Given the description of an element on the screen output the (x, y) to click on. 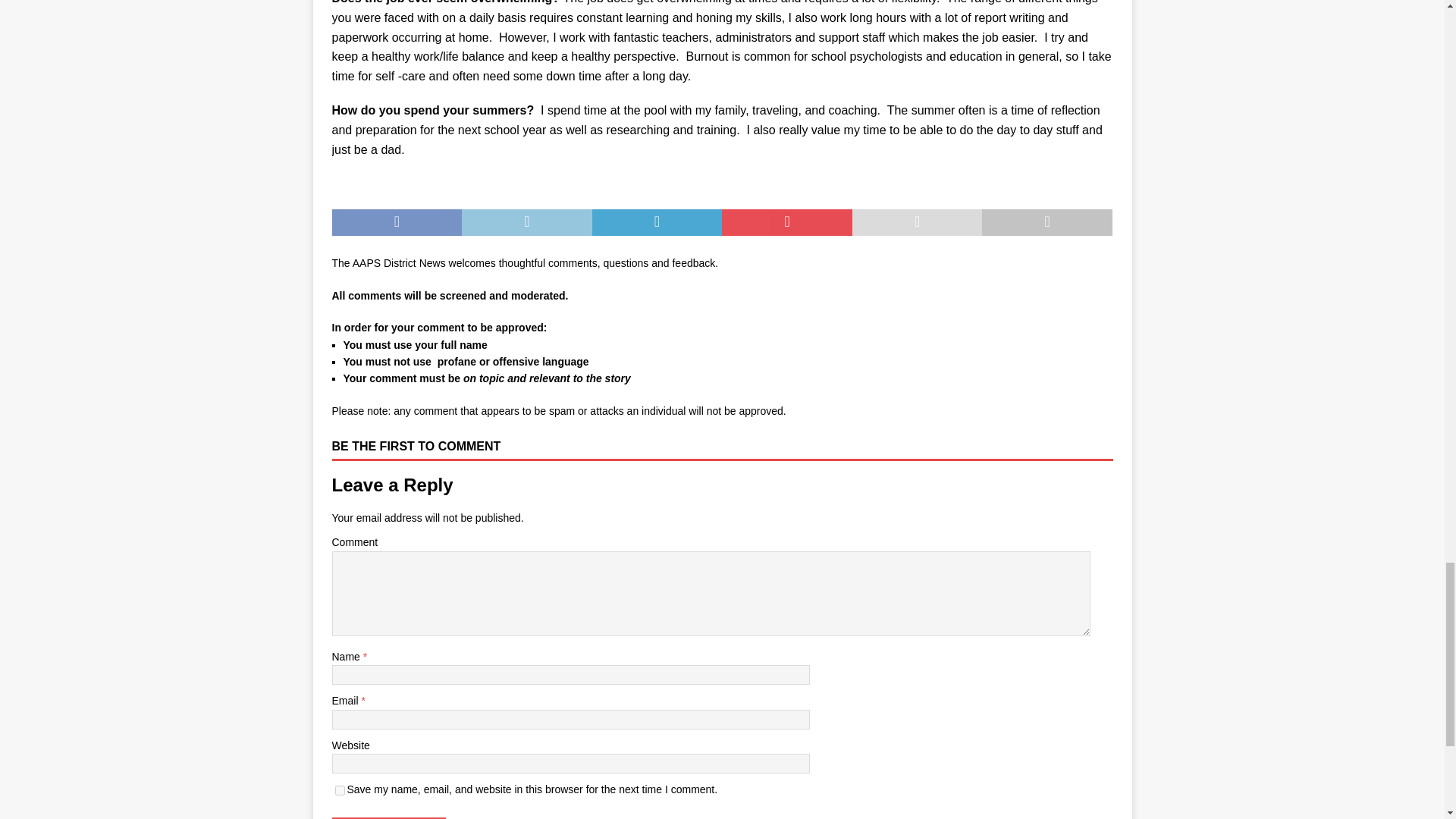
Post Comment (388, 818)
yes (339, 790)
Post Comment (388, 818)
